Given the description of an element on the screen output the (x, y) to click on. 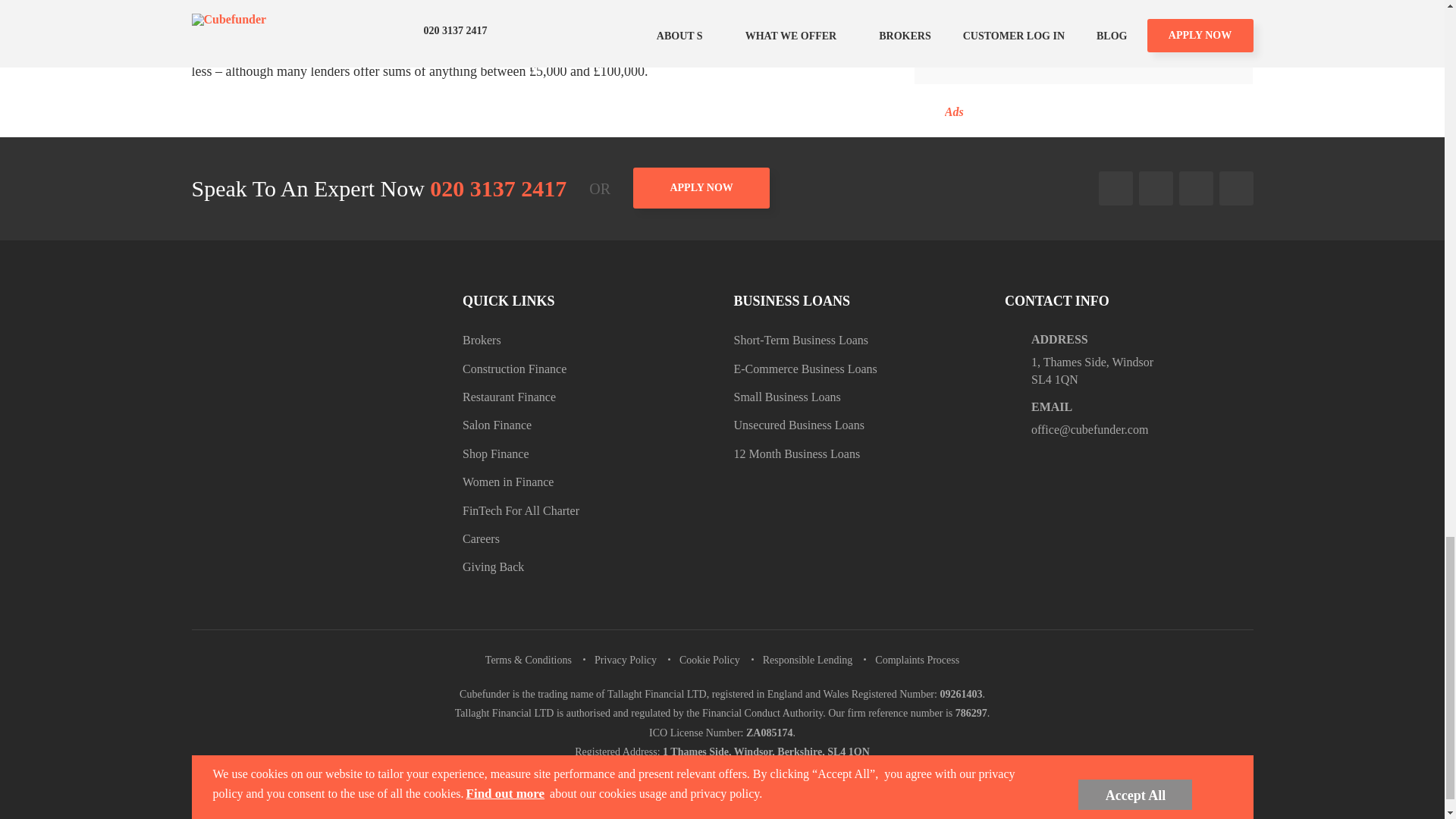
APPLY NOW (701, 187)
Brokers (481, 340)
Construction Finance (514, 369)
020 3137 2417 (497, 188)
